Given the description of an element on the screen output the (x, y) to click on. 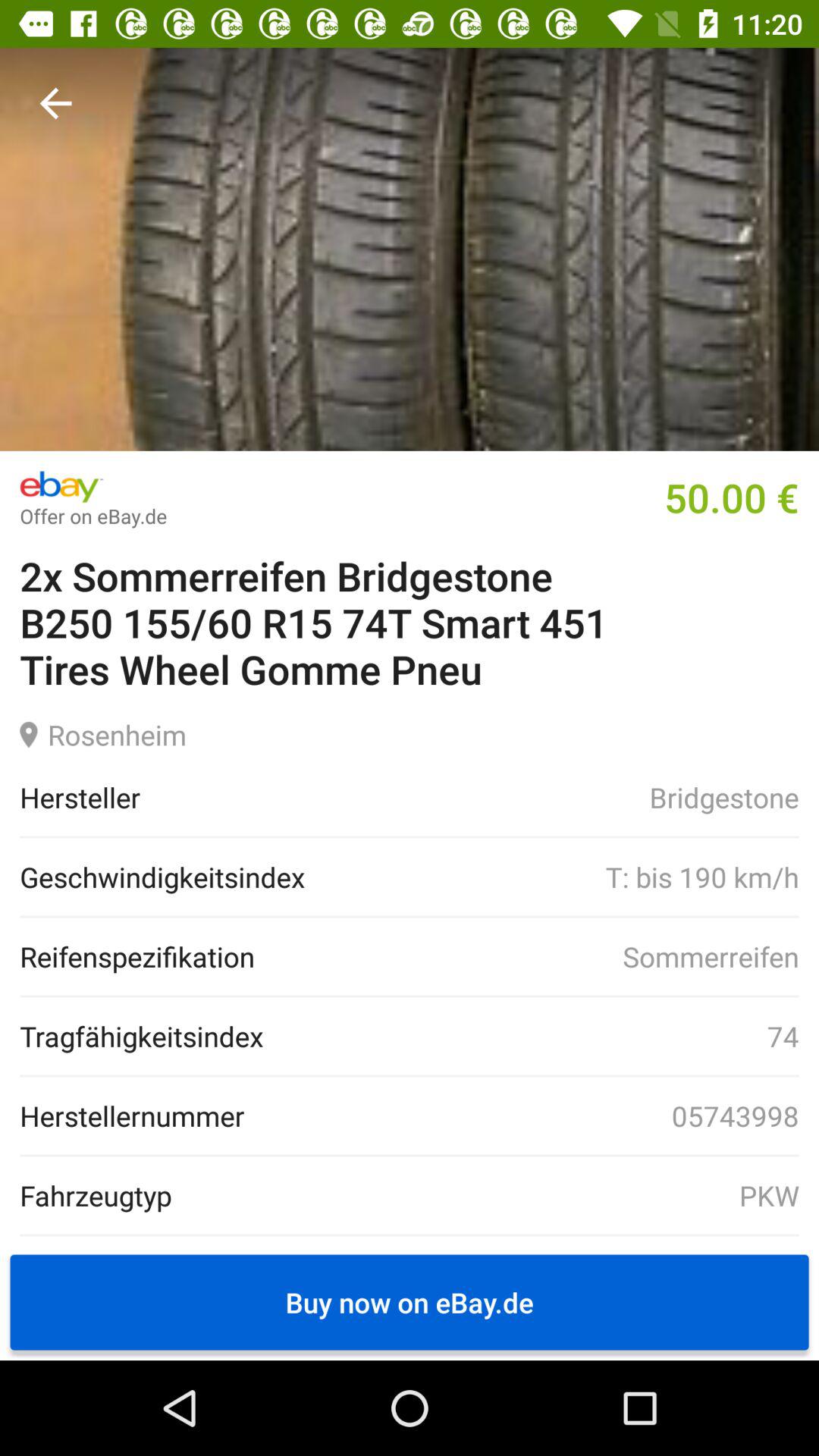
turn off the item to the left of t bis 190 item (161, 876)
